Given the description of an element on the screen output the (x, y) to click on. 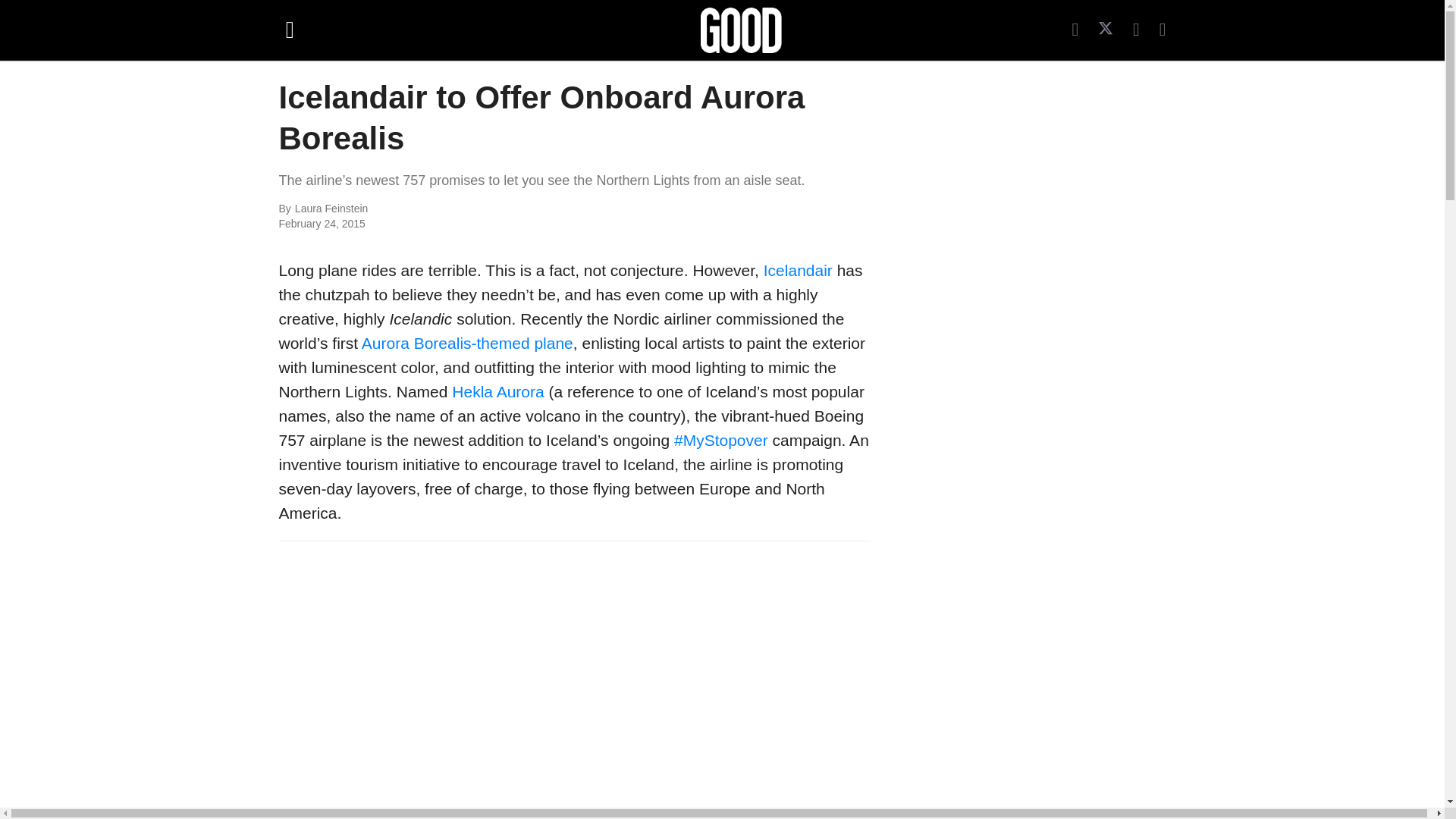
Icelandair (797, 270)
Aurora Borealis-themed plane (467, 343)
Laura Feinstein (459, 209)
Hekla Aurora (497, 391)
